Given the description of an element on the screen output the (x, y) to click on. 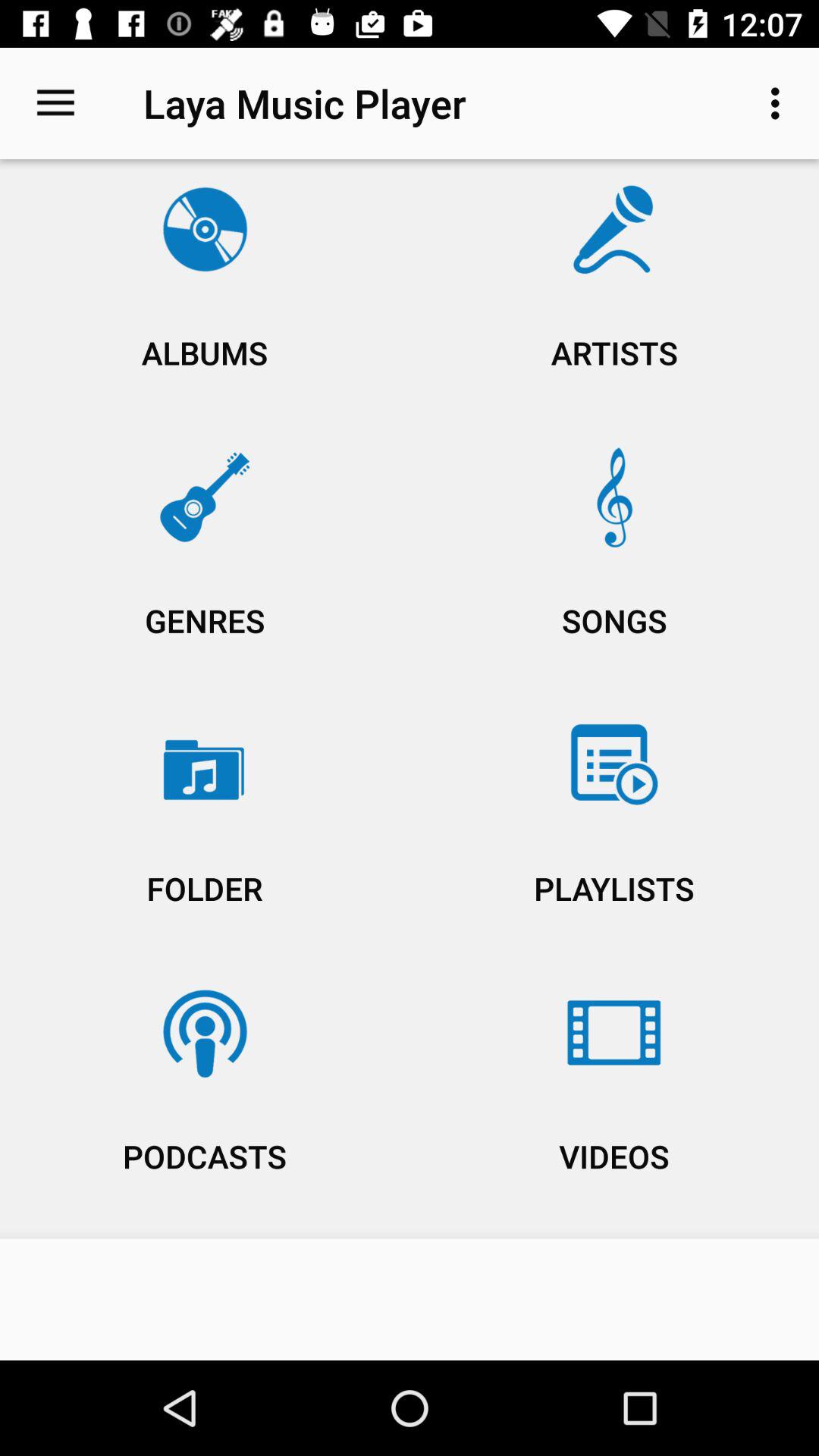
tap the songs icon (614, 565)
